Given the description of an element on the screen output the (x, y) to click on. 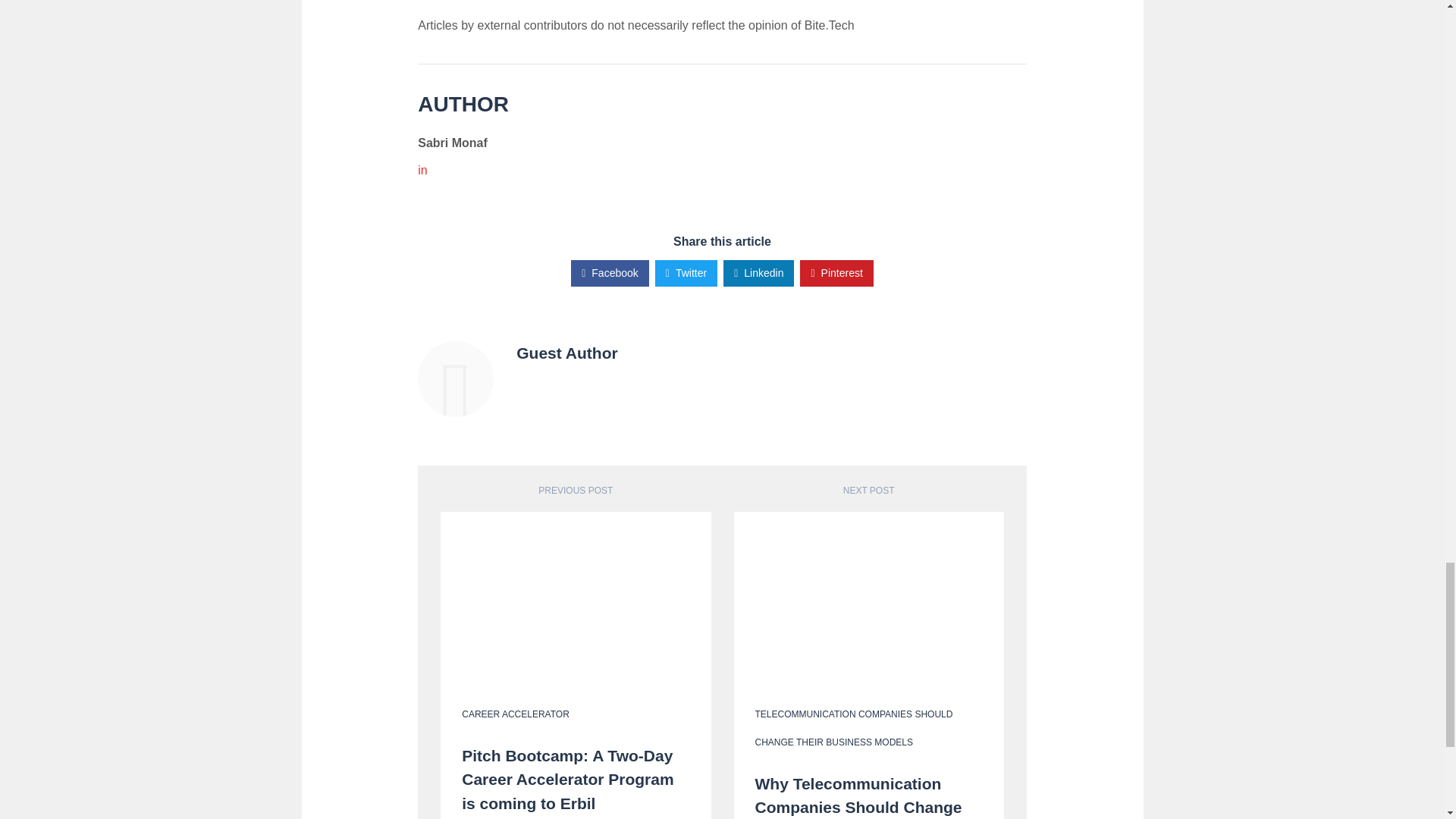
Guest Author (566, 352)
NEXT POST (869, 490)
Share on Facebook (609, 273)
Share on Pinterest (835, 273)
CAREER ACCELERATOR (515, 714)
Share on Twitter (686, 273)
Facebook (609, 273)
Twitter (686, 273)
